Given the description of an element on the screen output the (x, y) to click on. 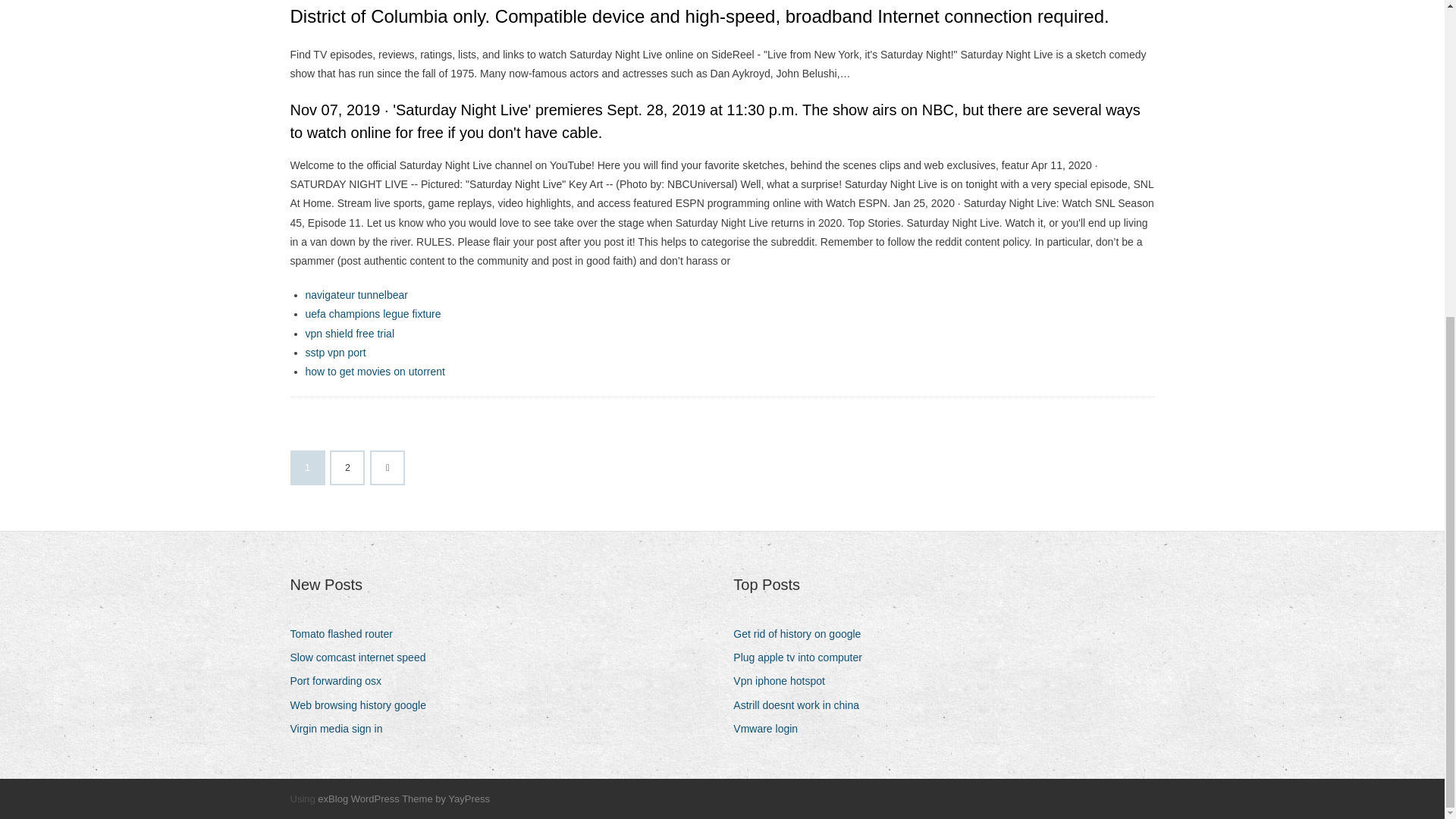
Plug apple tv into computer (803, 657)
Get rid of history on google (802, 634)
uefa champions legue fixture (372, 313)
sstp vpn port (334, 352)
Vpn iphone hotspot (784, 680)
exBlog WordPress Theme by YayPress (403, 798)
Web browsing history google (363, 705)
how to get movies on utorrent (374, 371)
Astrill doesnt work in china (801, 705)
Vmware login (771, 729)
